Given the description of an element on the screen output the (x, y) to click on. 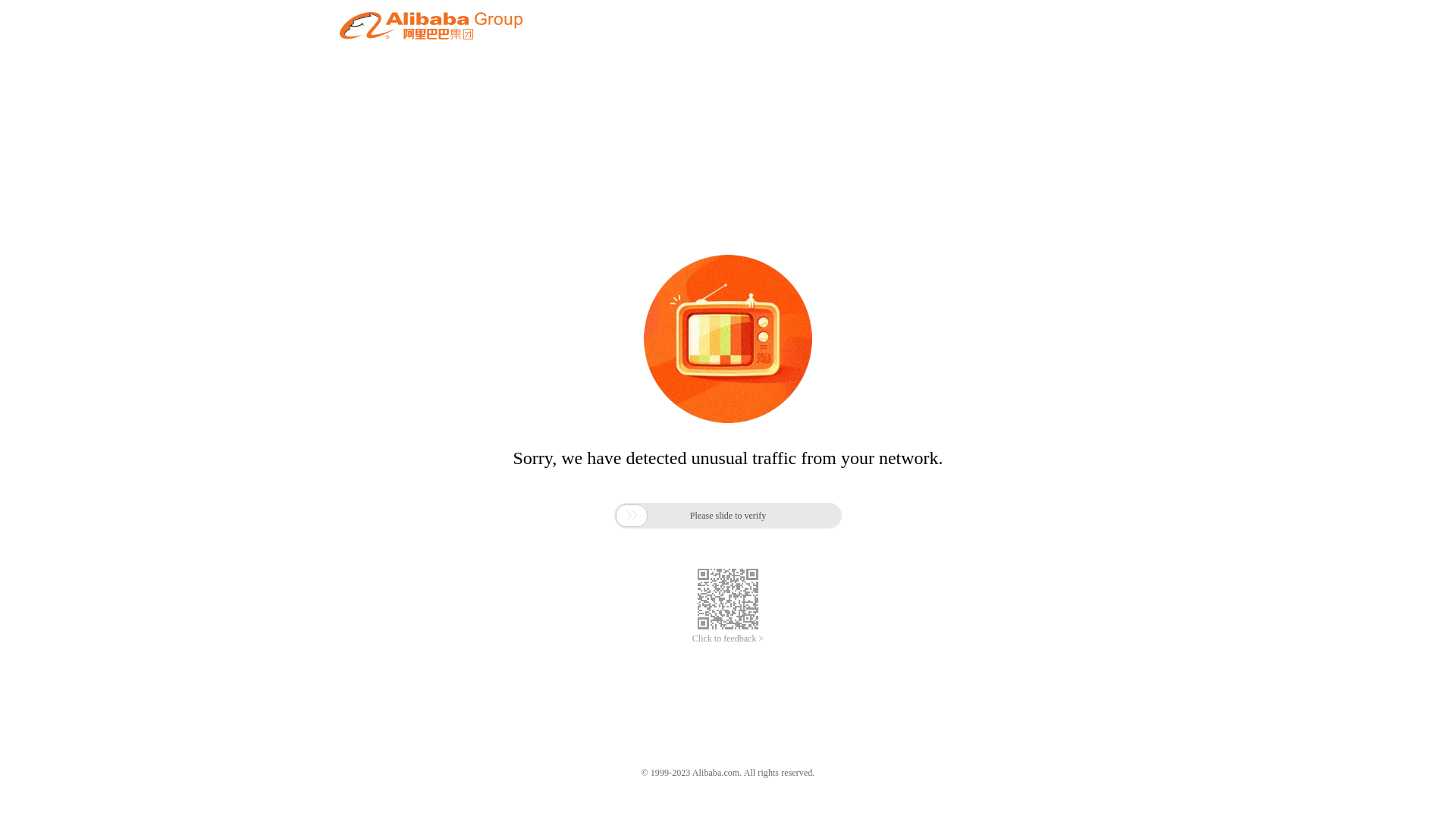
Click to feedback > Element type: text (727, 638)
